Given the description of an element on the screen output the (x, y) to click on. 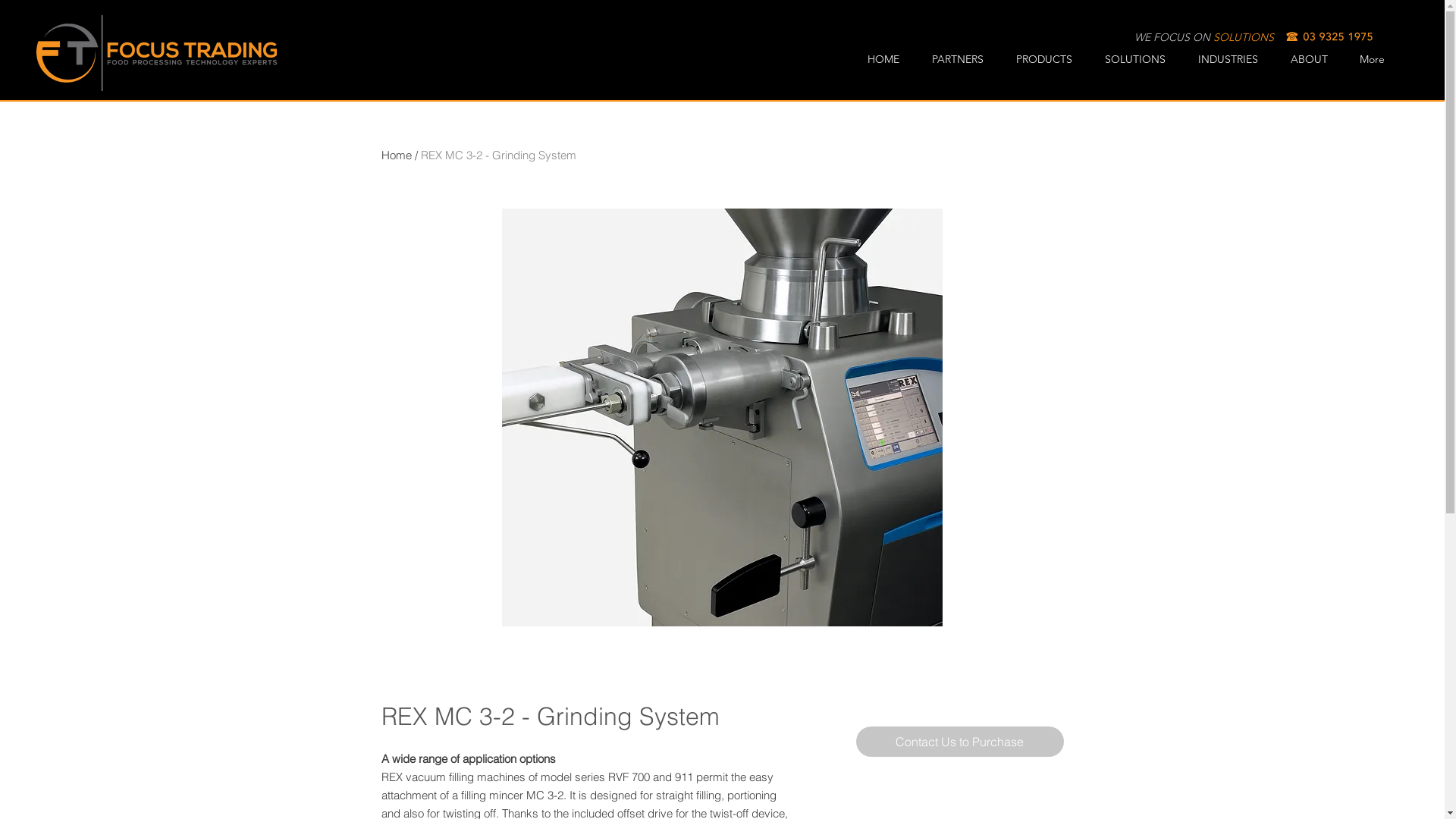
PARTNERS Element type: text (962, 59)
Contact Us to Purchase Element type: text (959, 741)
Home Element type: text (395, 154)
HOME Element type: text (888, 59)
ABOUT Element type: text (1313, 59)
REX MC 3-2 - Grinding System Element type: text (497, 154)
